Given the description of an element on the screen output the (x, y) to click on. 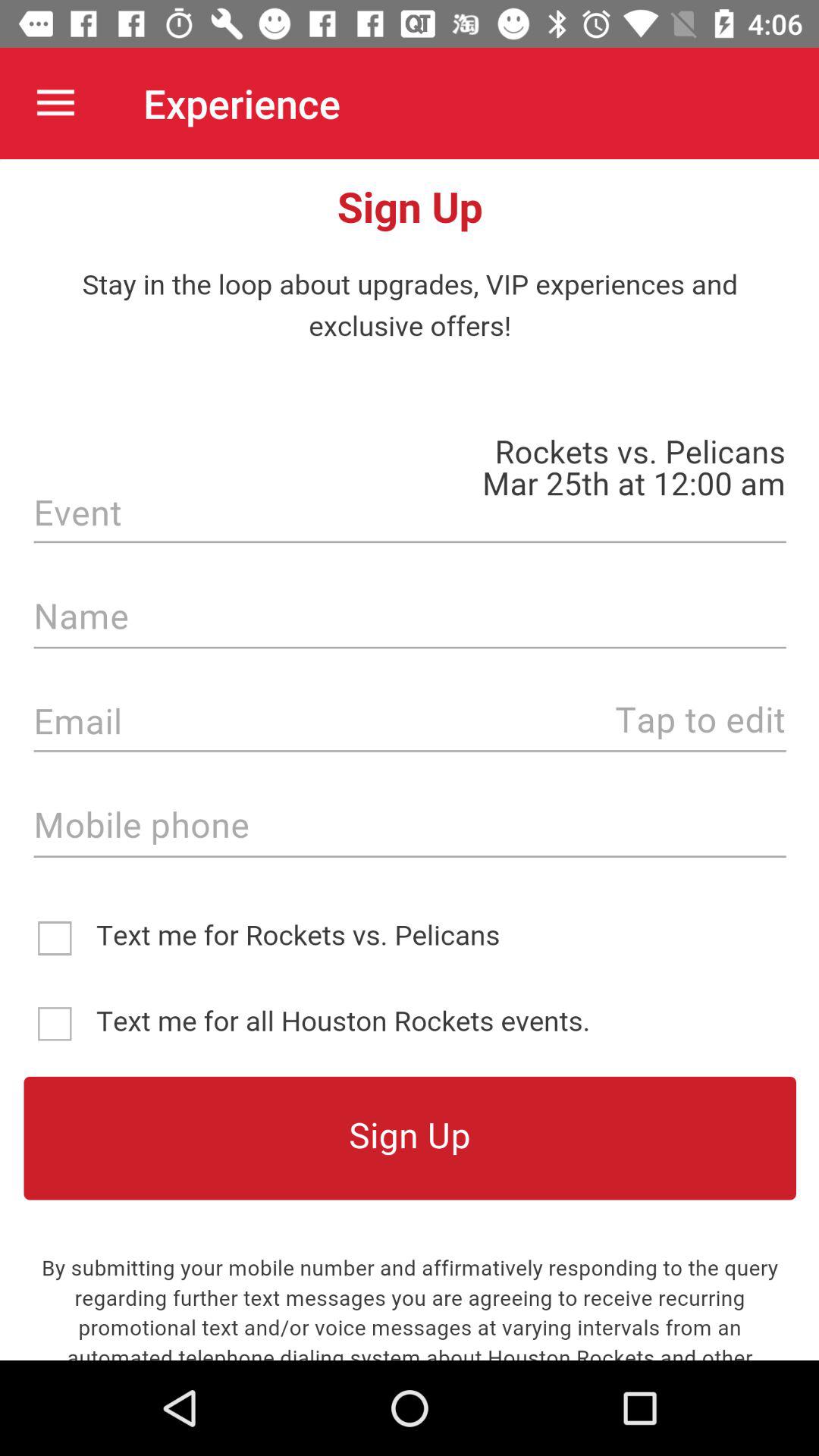
for advertisement (409, 759)
